Given the description of an element on the screen output the (x, y) to click on. 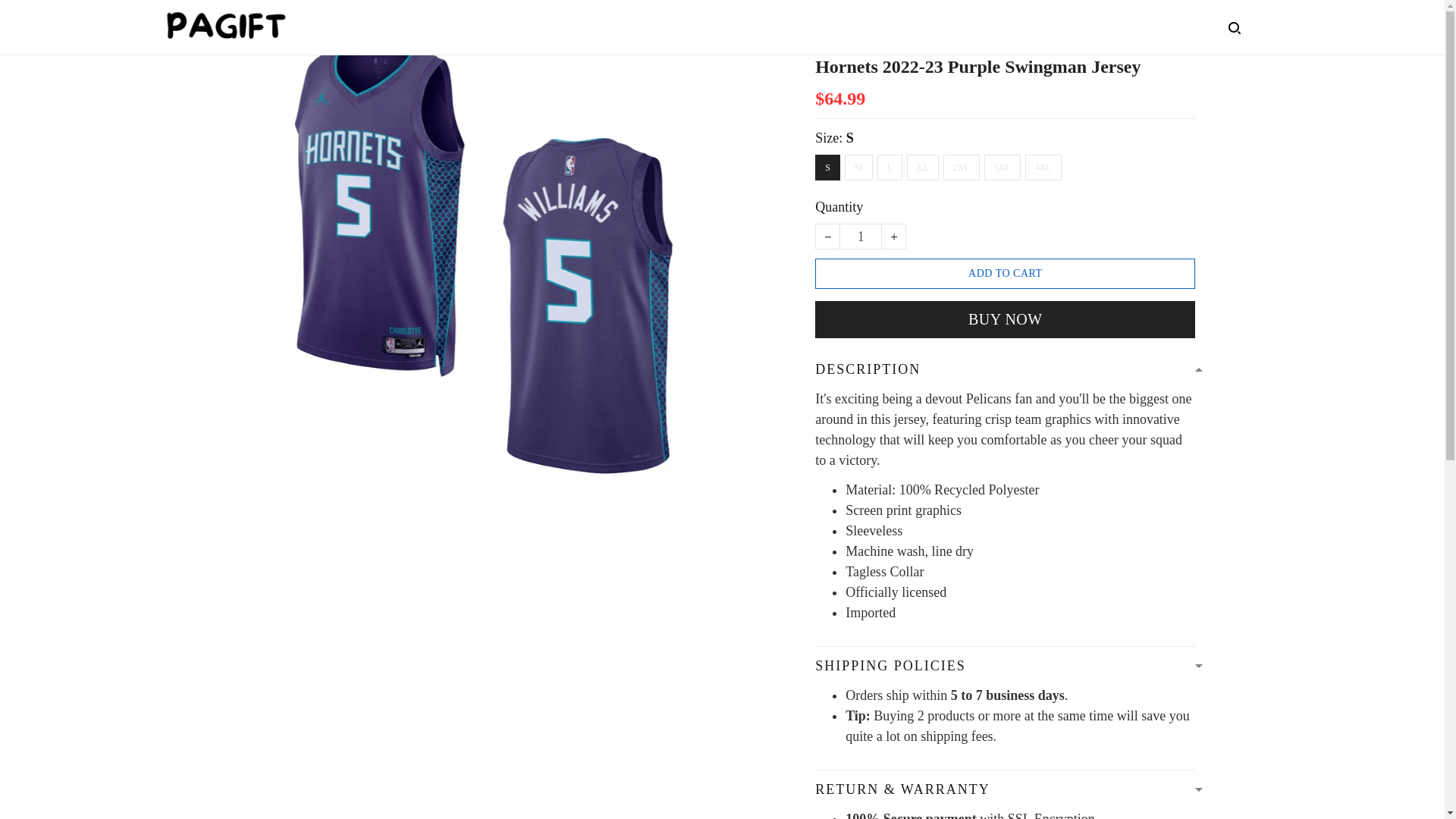
BUY NOW (1005, 319)
2XL (961, 167)
3XL (1002, 167)
ADD TO CART (1005, 273)
XL (923, 167)
S (827, 167)
L (889, 167)
1 (860, 236)
M (858, 167)
4XL (1043, 167)
